Given the description of an element on the screen output the (x, y) to click on. 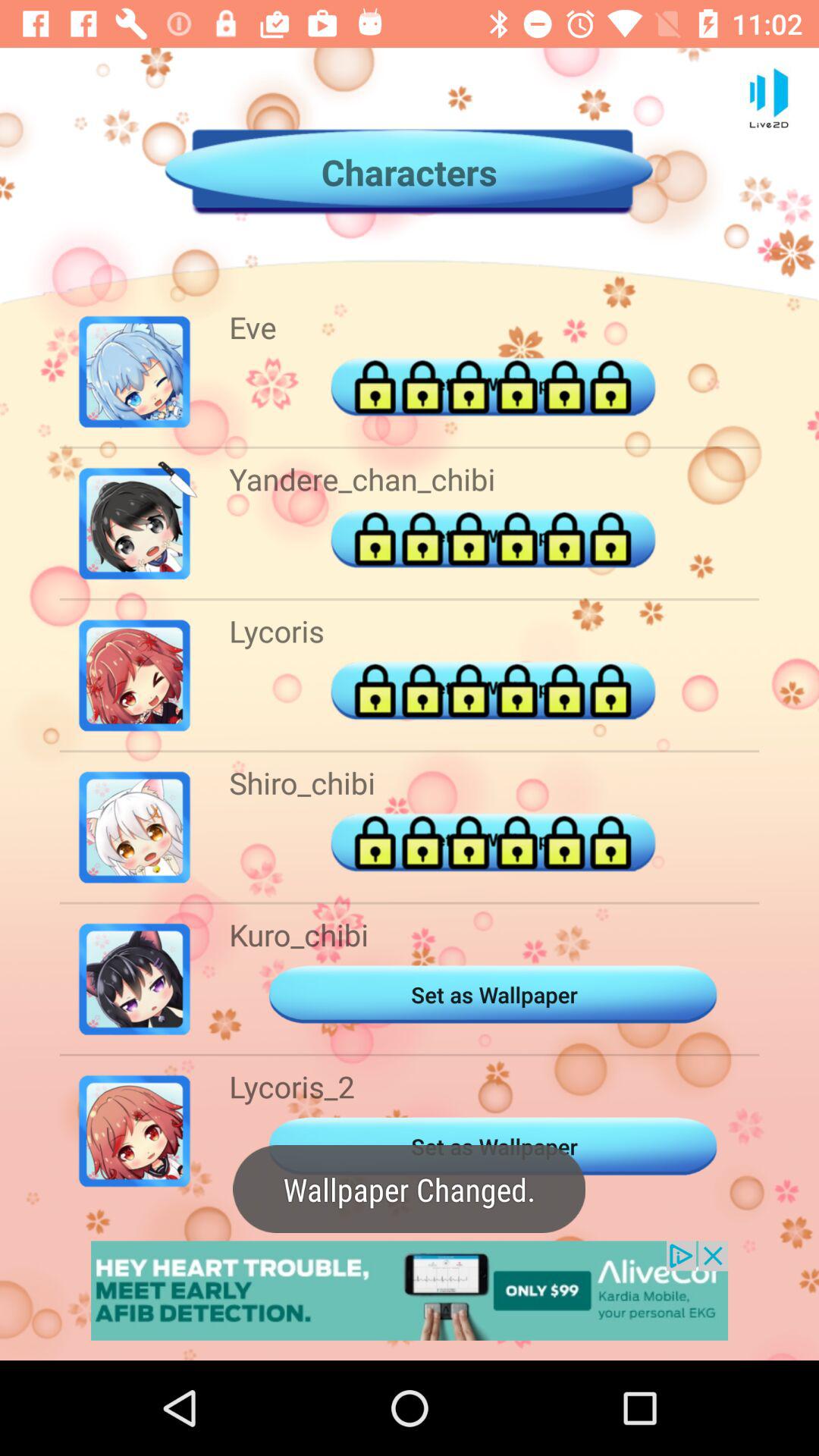
advertisement (409, 1290)
